Given the description of an element on the screen output the (x, y) to click on. 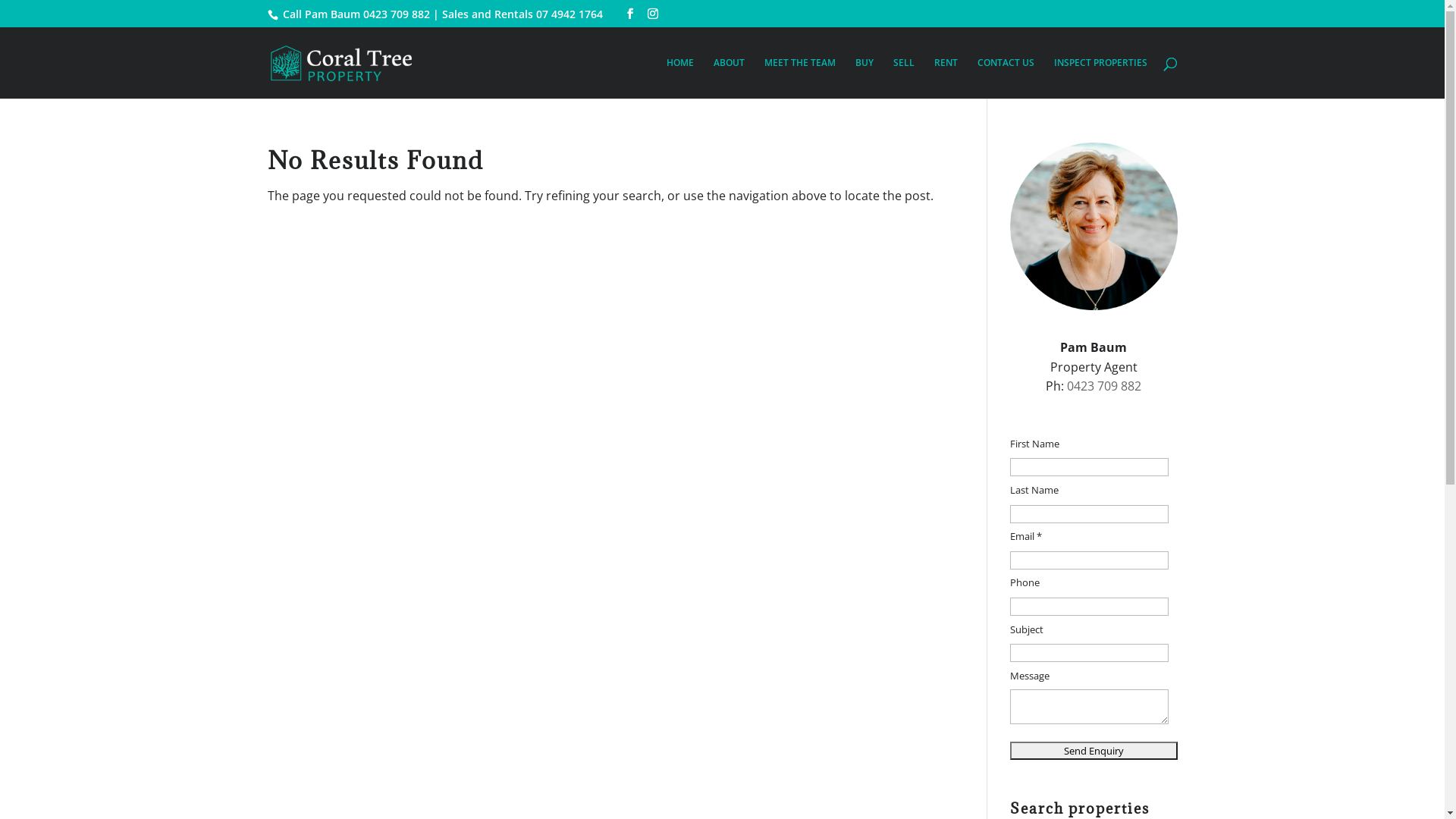
CONTACT US Element type: text (1004, 77)
RENT Element type: text (945, 77)
INSPECT PROPERTIES Element type: text (1100, 77)
MEET THE TEAM Element type: text (799, 77)
ABOUT Element type: text (727, 77)
SELL Element type: text (903, 77)
07 4942 1764 Element type: text (568, 13)
BUY Element type: text (864, 77)
0423 709 882 Element type: text (1103, 385)
Send Enquiry Element type: text (1093, 750)
HOME Element type: text (679, 77)
0423 709 882 Element type: text (395, 13)
